Given the description of an element on the screen output the (x, y) to click on. 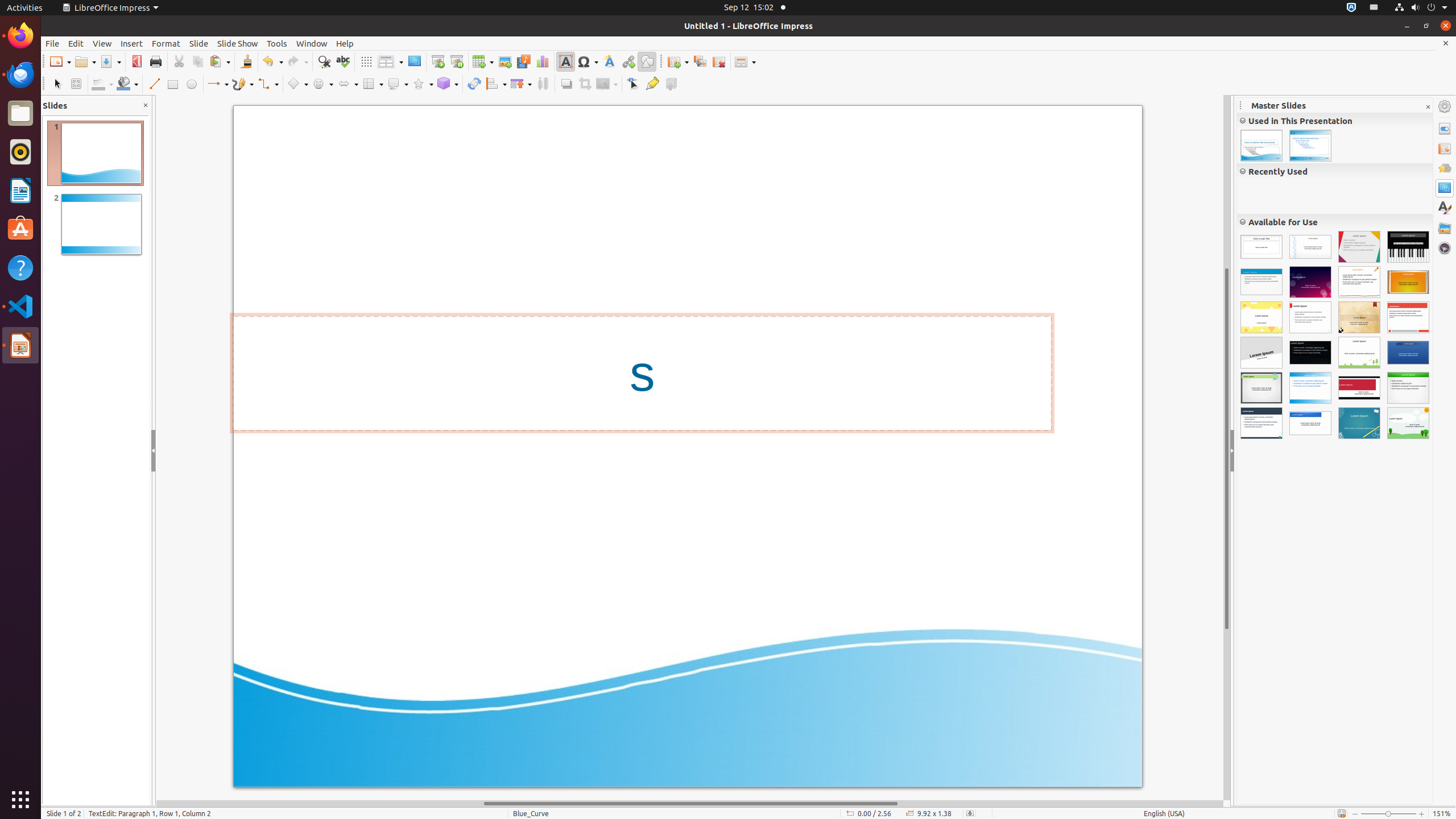
Filter Element type: push-button (606, 83)
Blueprint Plans Element type: list-item (1358, 422)
Nature Illustration Element type: list-item (1407, 422)
Save Element type: push-button (109, 61)
Close Pane Element type: push-button (145, 105)
